Given the description of an element on the screen output the (x, y) to click on. 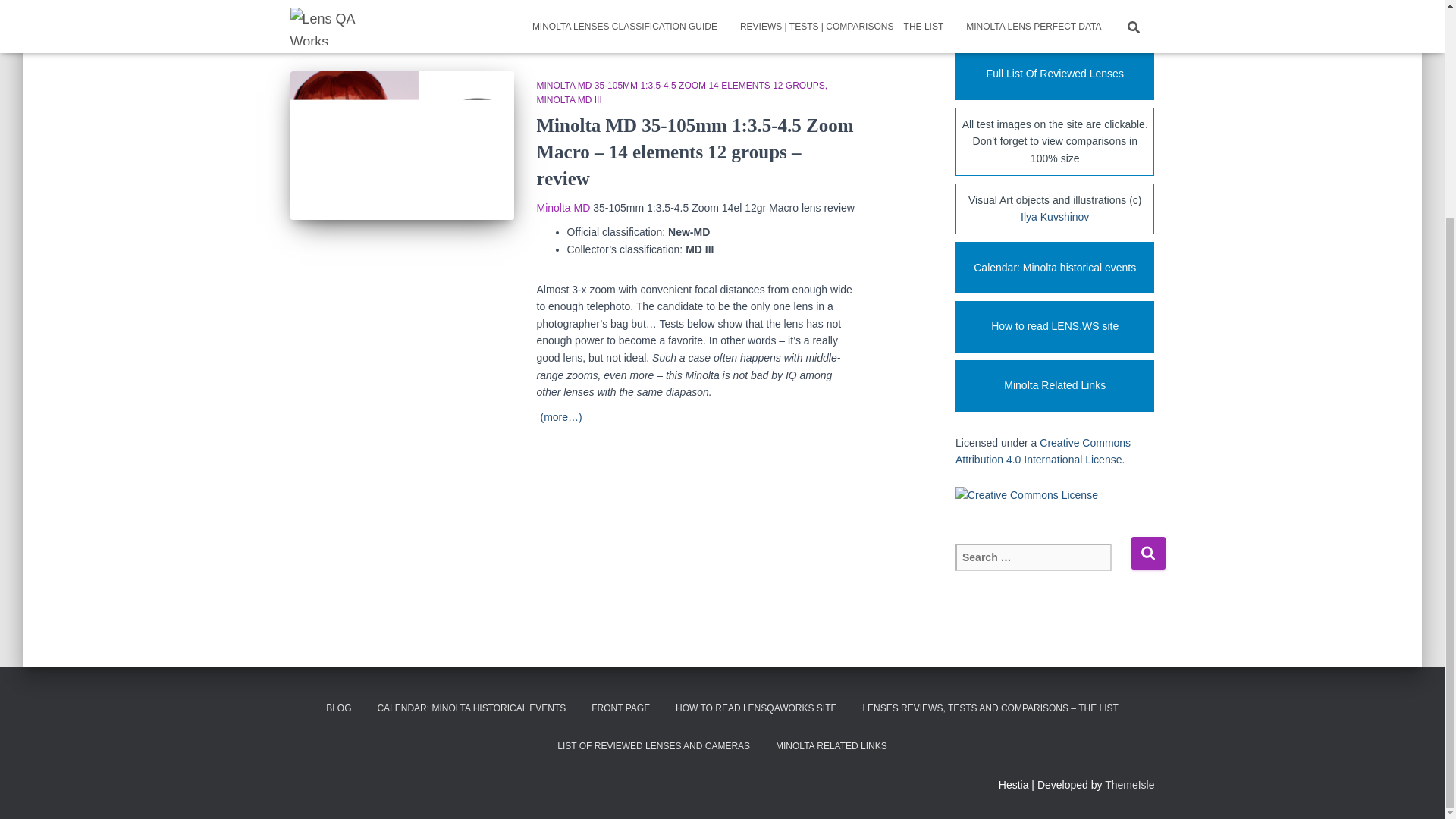
Search (1148, 553)
LIST OF REVIEWED LENSES AND CAMERAS (653, 746)
View all posts in Minolta MD III (569, 100)
Search (1148, 553)
FRONT PAGE (620, 708)
ThemeIsle (1129, 784)
Minolta MD (564, 207)
Minolta Related Links (1054, 385)
MINOLTA RELATED LINKS (831, 746)
